Given the description of an element on the screen output the (x, y) to click on. 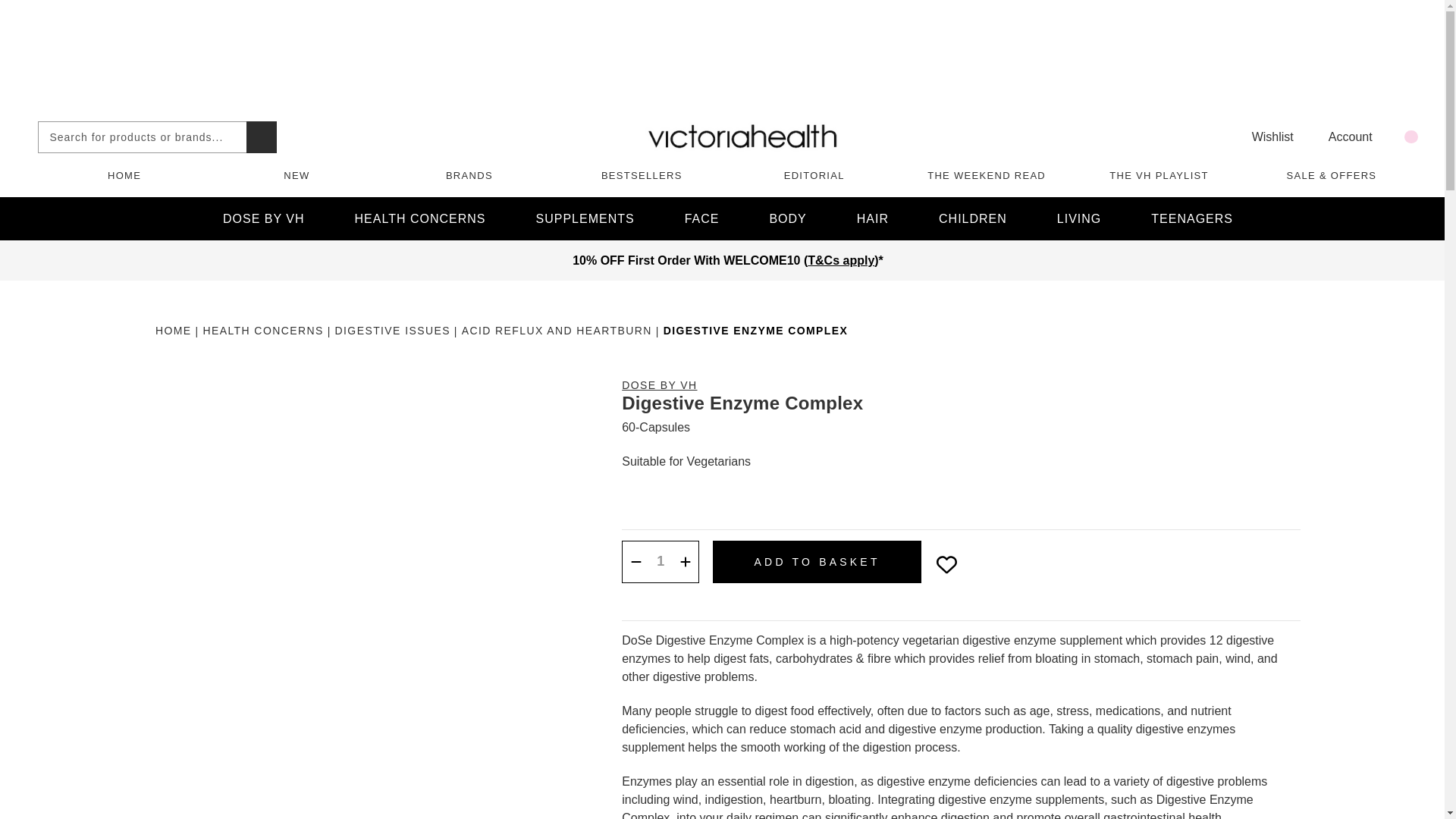
Bestsellers (641, 174)
New (295, 174)
BESTSELLERS (641, 174)
Basket (1402, 137)
HEALTH CONCERNS (420, 218)
THE WEEKEND READ (986, 174)
NEW (295, 174)
Brands (469, 174)
SUPPLEMENTS (585, 218)
HAIR (872, 218)
